Given the description of an element on the screen output the (x, y) to click on. 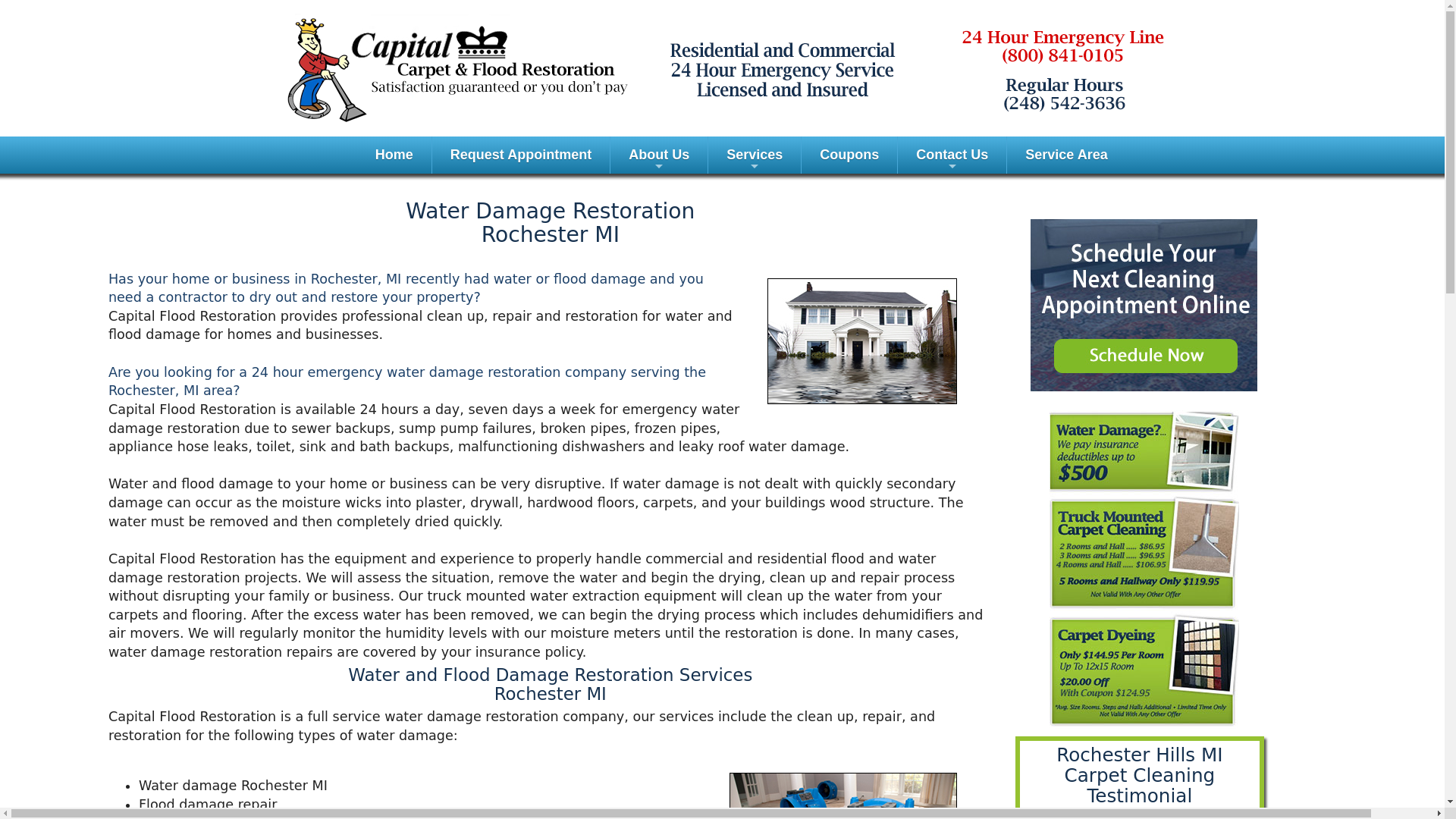
Request Appointment (521, 154)
Coupons (849, 154)
Service Area (1066, 154)
Home (393, 154)
